Given the description of an element on the screen output the (x, y) to click on. 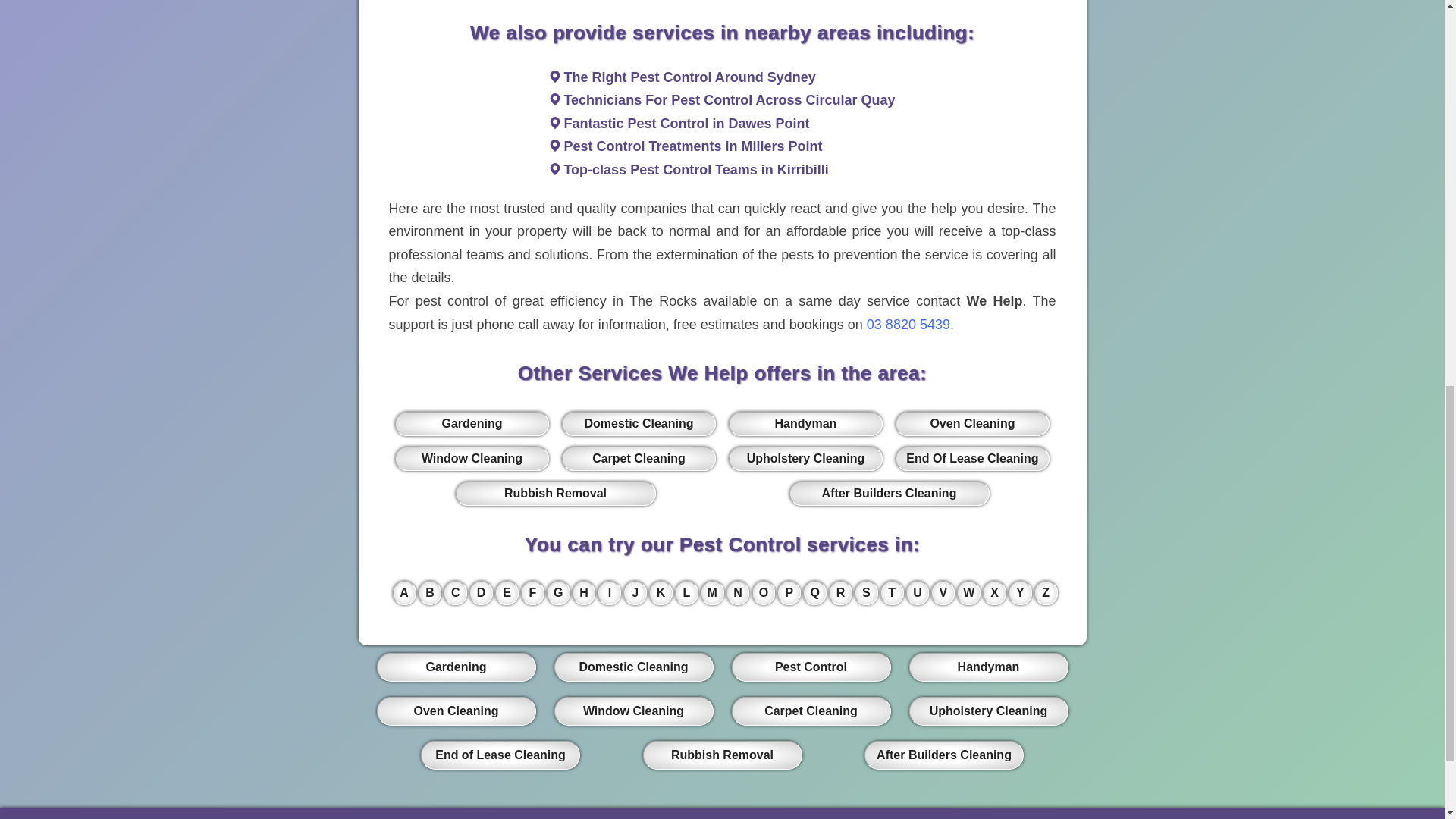
Technicians For Pest Control Across Circular Quay (729, 99)
After Builders Cleaning (888, 493)
Upholstery Cleaning The Rocks 2000 (805, 458)
Handyman (805, 423)
Technicians For Pest Control Across Circular Quay (729, 99)
Top-class Pest Control Teams in Kirribilli (695, 169)
The Right Pest Control Around Sydney (689, 77)
End Of Lease Cleaning The Rocks 2000 (971, 458)
Domestic Cleaning (638, 423)
Top-class Pest Control Teams in Kirribilli (695, 169)
